Given the description of an element on the screen output the (x, y) to click on. 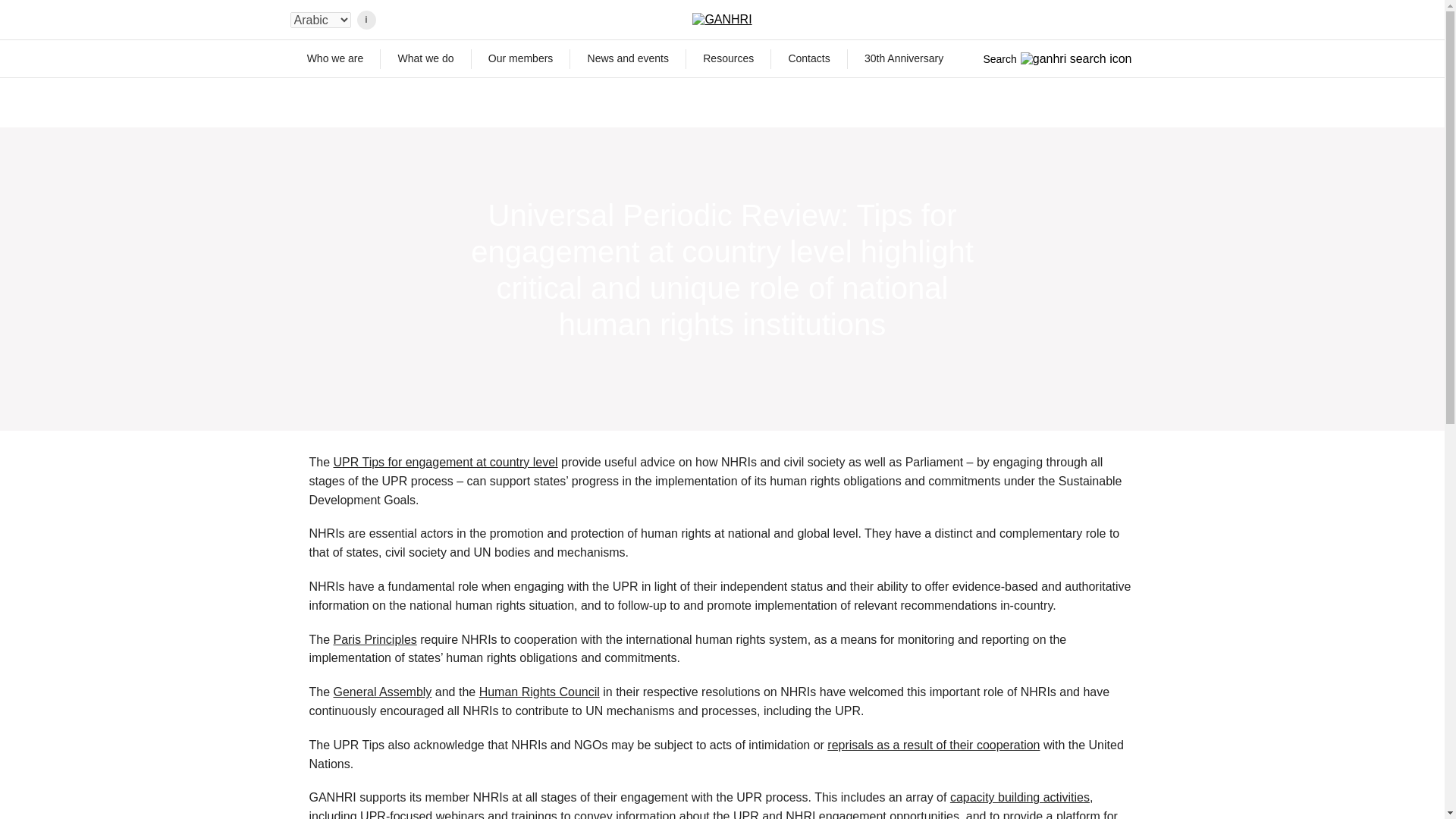
Who we are (334, 58)
What we do (425, 58)
i (365, 19)
Who we are (334, 58)
What we do (425, 58)
